Given the description of an element on the screen output the (x, y) to click on. 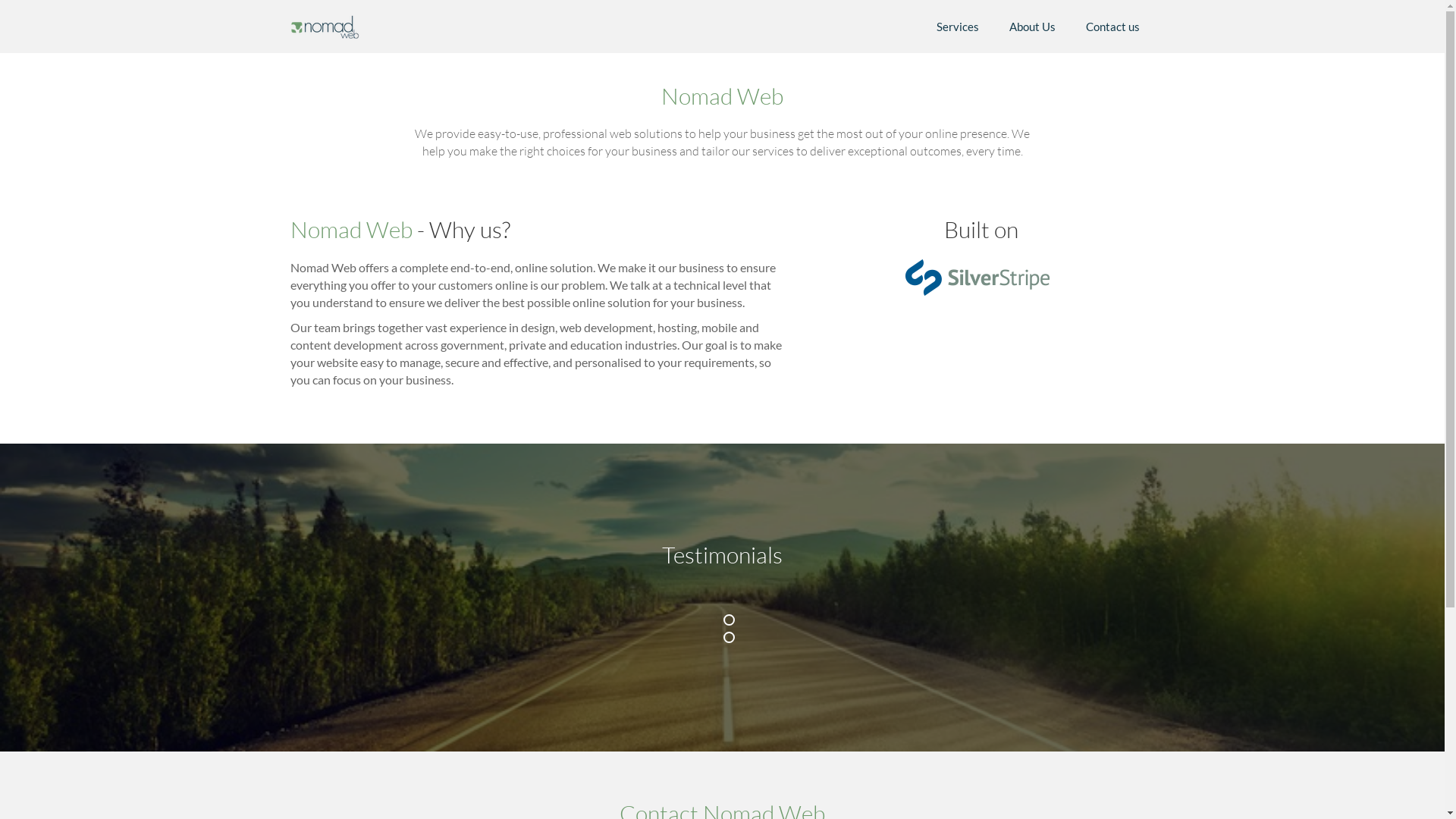
About Us Element type: text (1031, 26)
Services Element type: text (956, 26)
Contact us Element type: text (1112, 26)
